Given the description of an element on the screen output the (x, y) to click on. 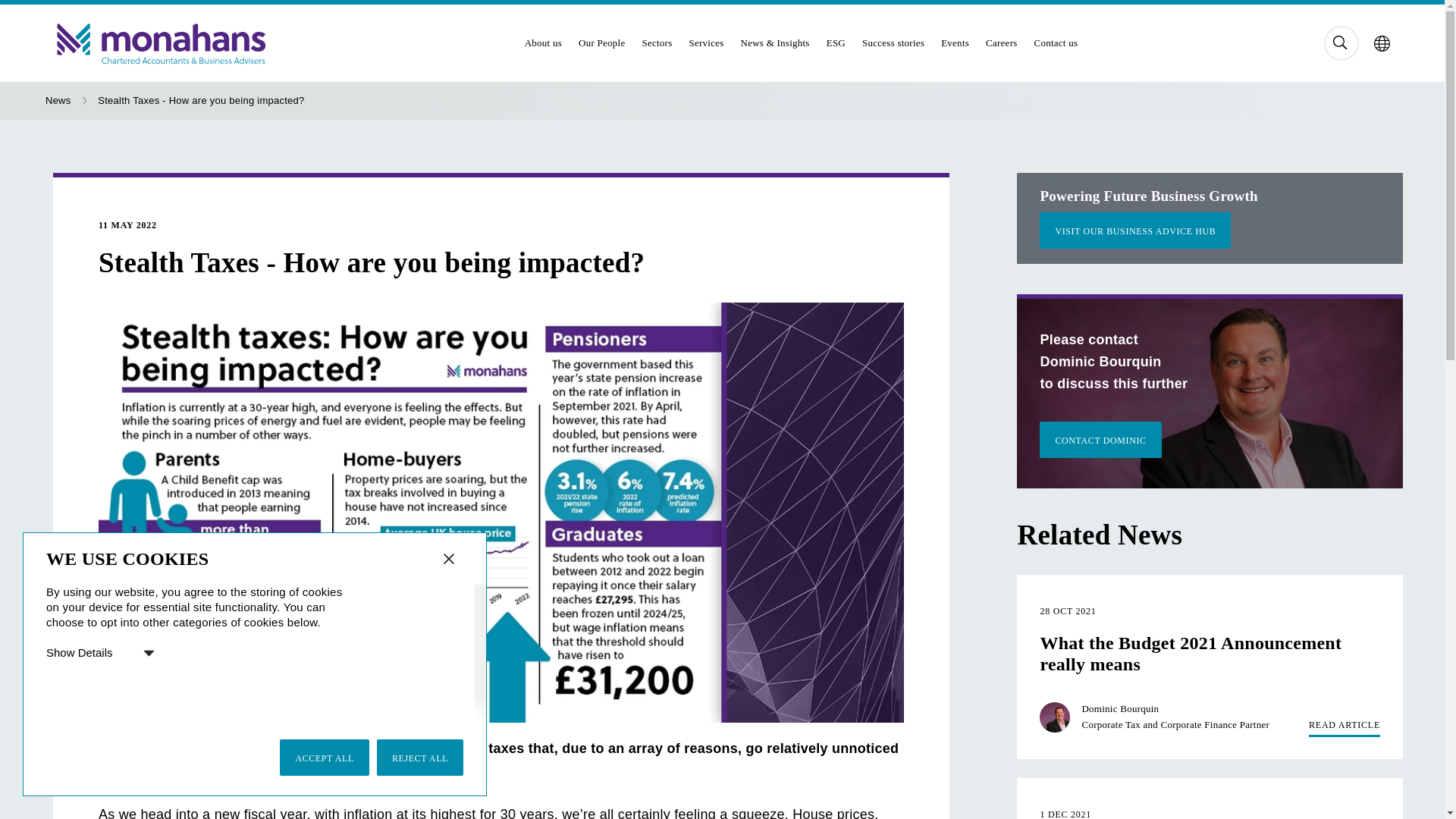
Monahans Home (271, 42)
